Given the description of an element on the screen output the (x, y) to click on. 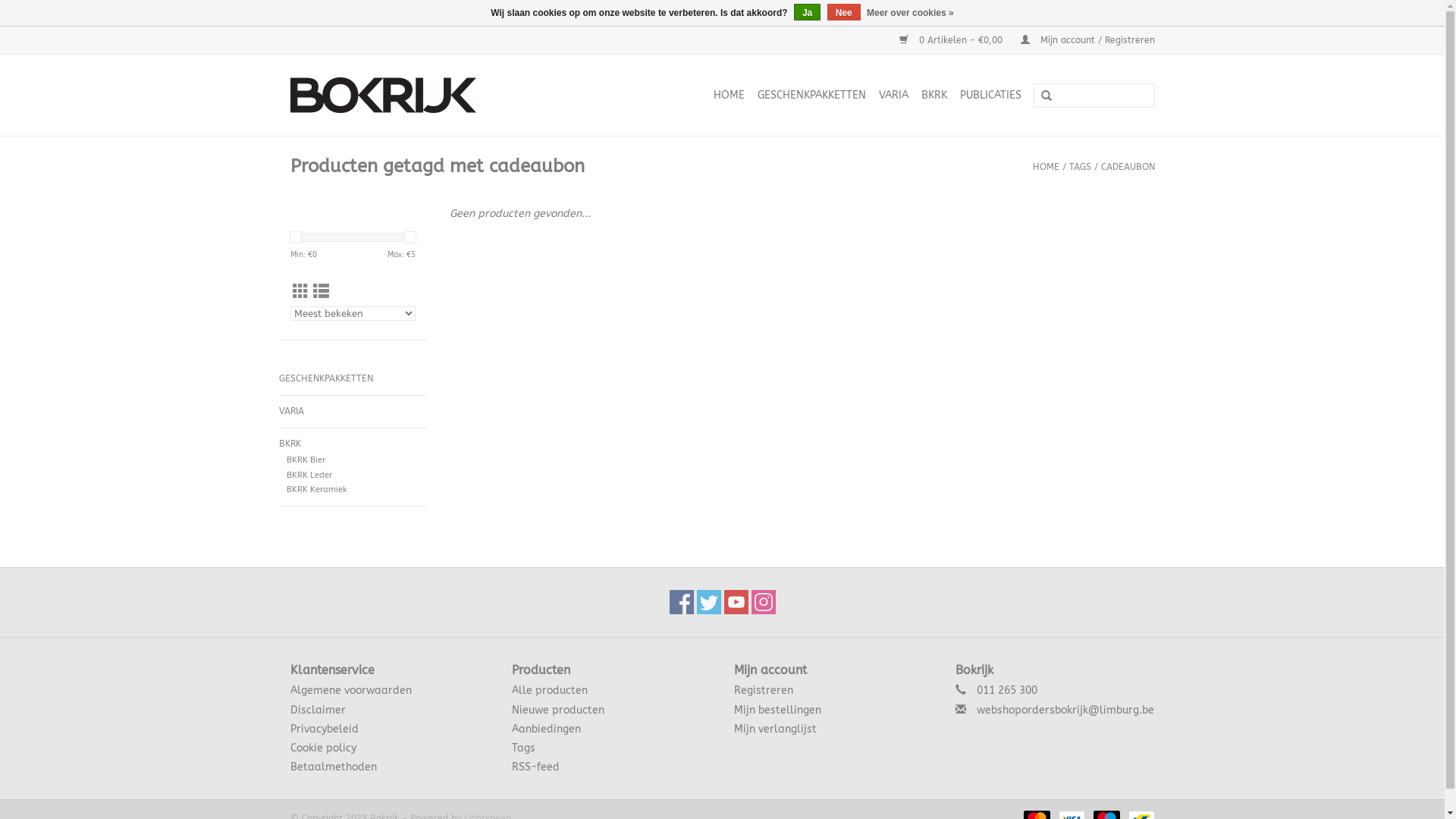
Nieuwe producten Element type: text (557, 709)
Registreren Element type: text (763, 690)
Nee Element type: text (843, 11)
Betaalmethoden Element type: text (332, 766)
Ja Element type: text (806, 11)
HOME Element type: text (1045, 166)
HOME Element type: text (728, 95)
BKRK Keramiek Element type: text (316, 489)
GESCHENKPAKKETTEN Element type: text (810, 95)
Zoeken Element type: hover (1045, 96)
Mijn account / Registreren Element type: text (1079, 39)
Algemene voorwaarden Element type: text (350, 690)
Cookie policy Element type: text (322, 747)
RSS-feed Element type: text (535, 766)
VARIA Element type: text (892, 95)
Aanbiedingen Element type: text (545, 728)
Mijn verlanglijst Element type: text (775, 728)
TAGS Element type: text (1080, 166)
PUBLICATIES Element type: text (990, 95)
Privacybeleid Element type: text (323, 728)
Mijn bestellingen Element type: text (777, 709)
Bokrijk Element type: hover (416, 94)
BKRK Leder Element type: text (309, 475)
VARIA Element type: text (352, 411)
Disclaimer Element type: text (317, 709)
Instagram Bokrijk Element type: hover (762, 601)
Alle producten Element type: text (549, 690)
Tags Element type: text (523, 747)
CADEAUBON Element type: text (1127, 166)
BKRK Element type: text (352, 444)
GESCHENKPAKKETTEN Element type: text (352, 378)
webshopordersbokrijk@limburg.be Element type: text (1065, 709)
BKRK Element type: text (933, 95)
BKRK Bier Element type: text (305, 459)
